Given the description of an element on the screen output the (x, y) to click on. 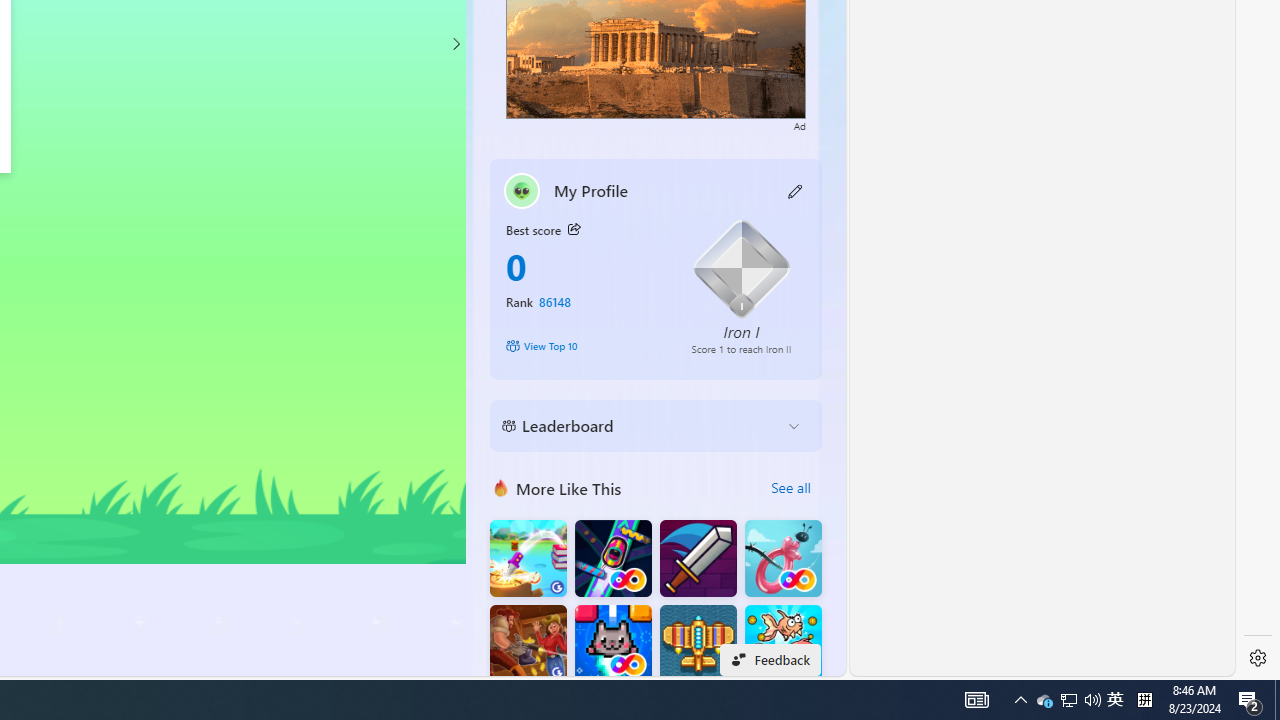
Balloon FRVR (783, 558)
Class: button edit-icon (795, 190)
Leaderboard (639, 425)
Saloon Robbery (528, 643)
